Given the description of an element on the screen output the (x, y) to click on. 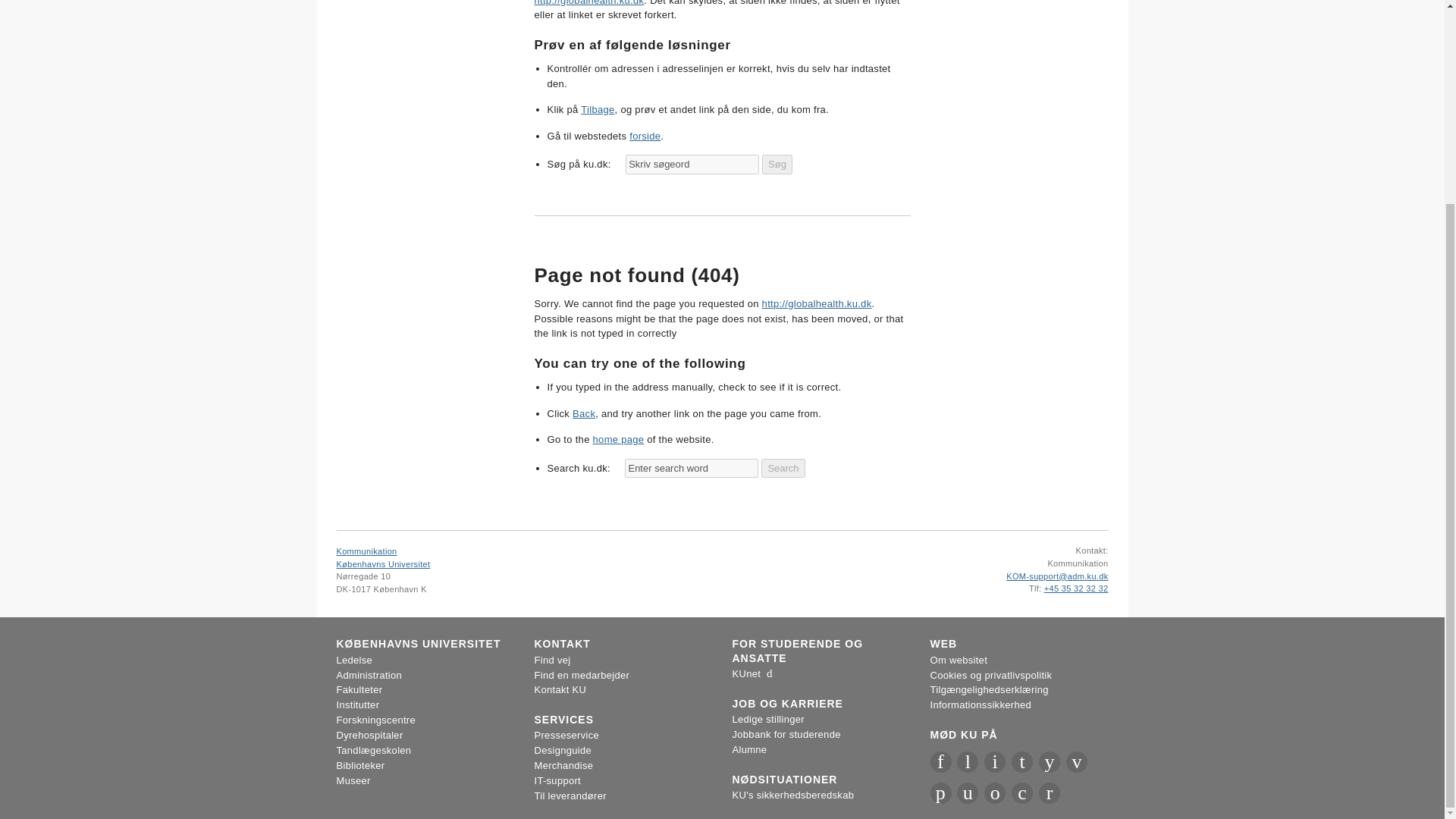
KU Videoportal (1076, 762)
Search (783, 468)
Enter search word (691, 468)
KU Apps (940, 792)
Nyheder RSS (1049, 792)
Telefonnummer (1035, 587)
